Given the description of an element on the screen output the (x, y) to click on. 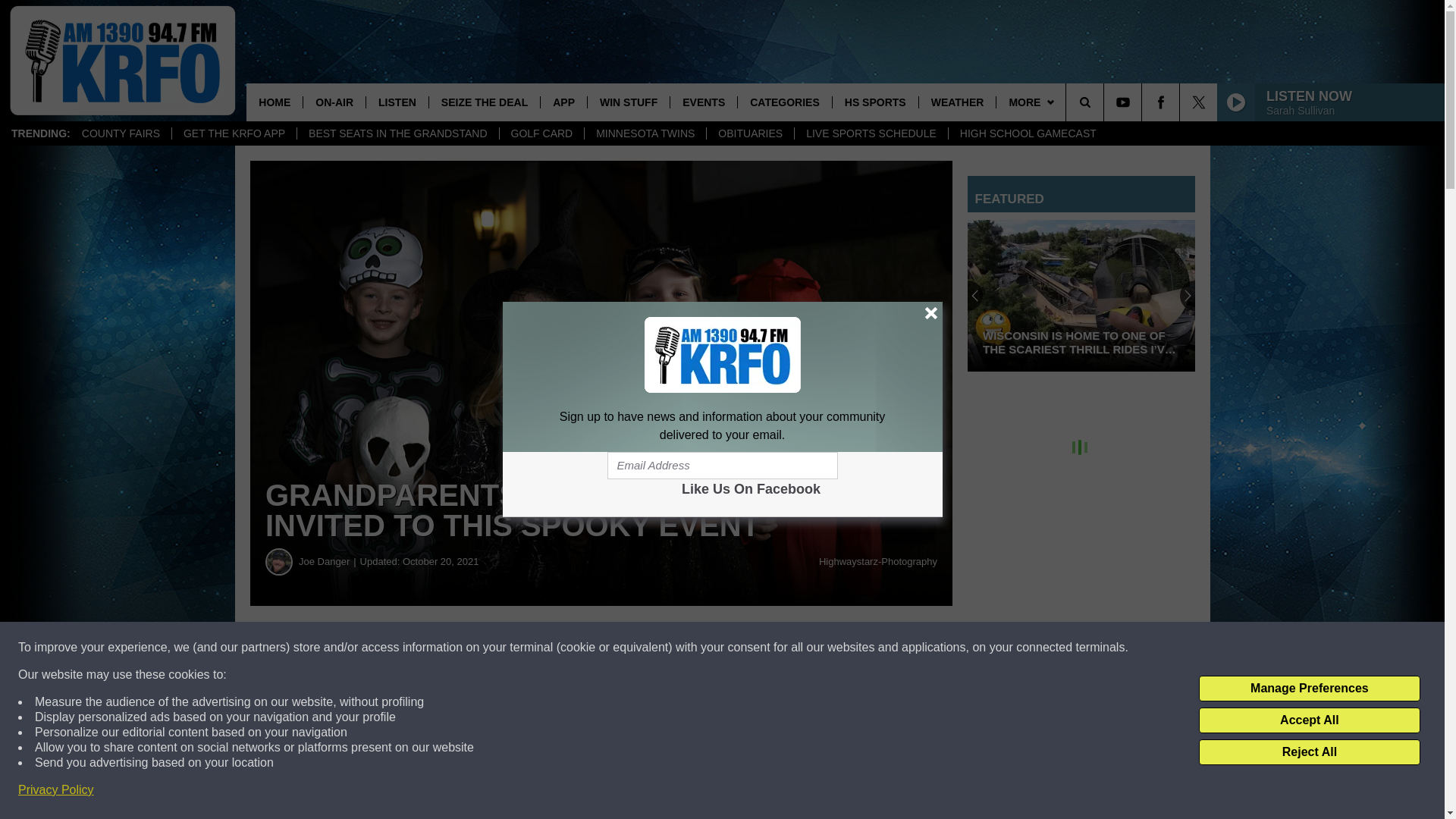
GET THE KRFO APP (234, 133)
ON-AIR (333, 102)
Email Address (722, 465)
Accept All (1309, 720)
SEARCH (1106, 102)
APP (563, 102)
BEST SEATS IN THE GRANDSTAND (397, 133)
Share on Twitter (741, 647)
SEARCH (1106, 102)
WIN STUFF (627, 102)
EVENTS (702, 102)
COUNTY FAIRS (120, 133)
Share on Facebook (460, 647)
Reject All (1309, 751)
LIVE SPORTS SCHEDULE (870, 133)
